Given the description of an element on the screen output the (x, y) to click on. 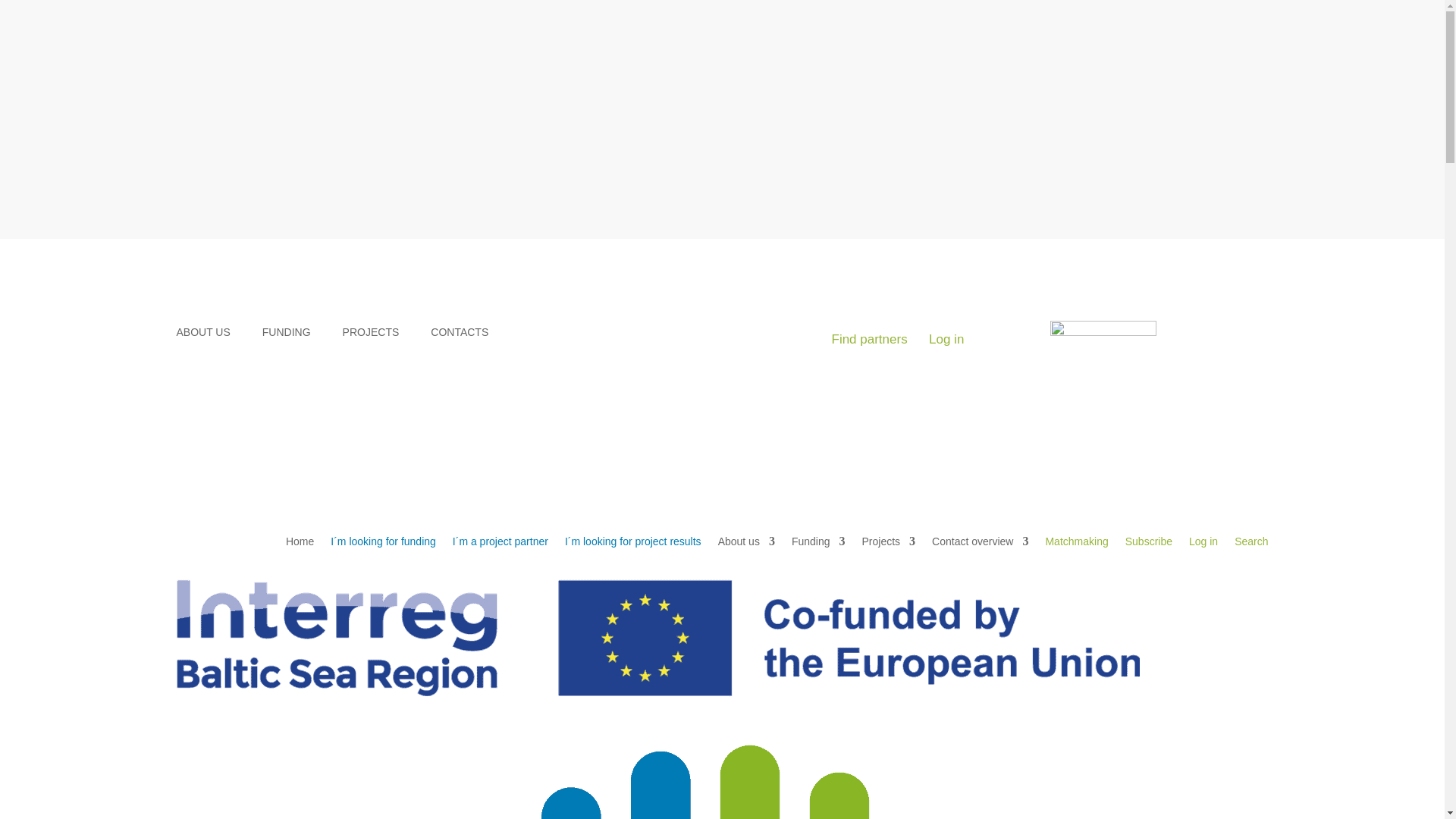
PROJECTS (378, 334)
ABOUT US (210, 334)
VideoBolt-klein (1102, 343)
Home (299, 544)
Projects (888, 544)
Log in (945, 339)
Wave-rechteckig (569, 770)
FUNDING (294, 334)
Find partners (869, 339)
Funding (818, 544)
